Given the description of an element on the screen output the (x, y) to click on. 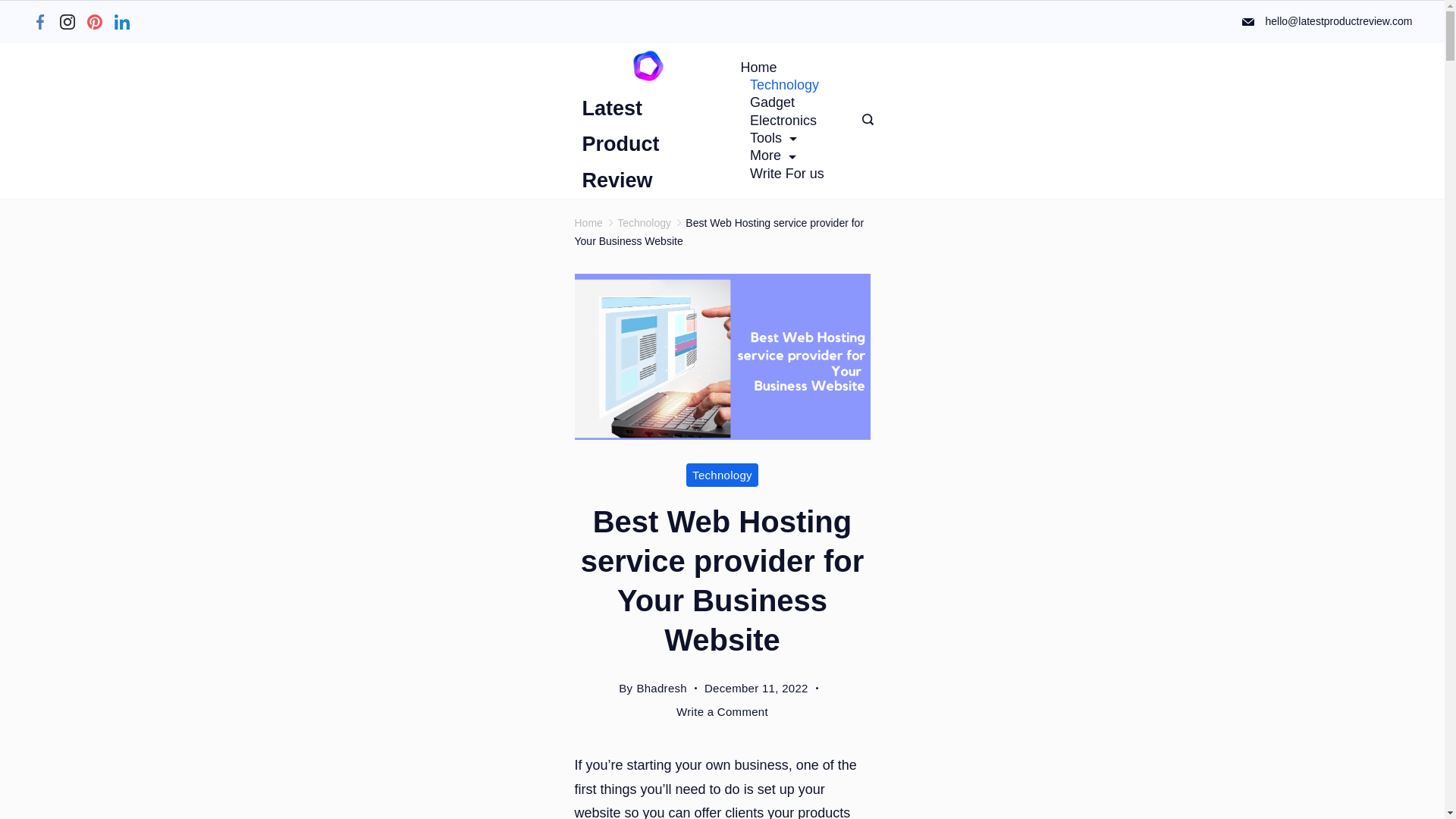
Tools (772, 138)
Gadget (771, 102)
Home (762, 67)
Electronics (782, 120)
Technology (783, 85)
More (772, 155)
Write For us (781, 173)
